Given the description of an element on the screen output the (x, y) to click on. 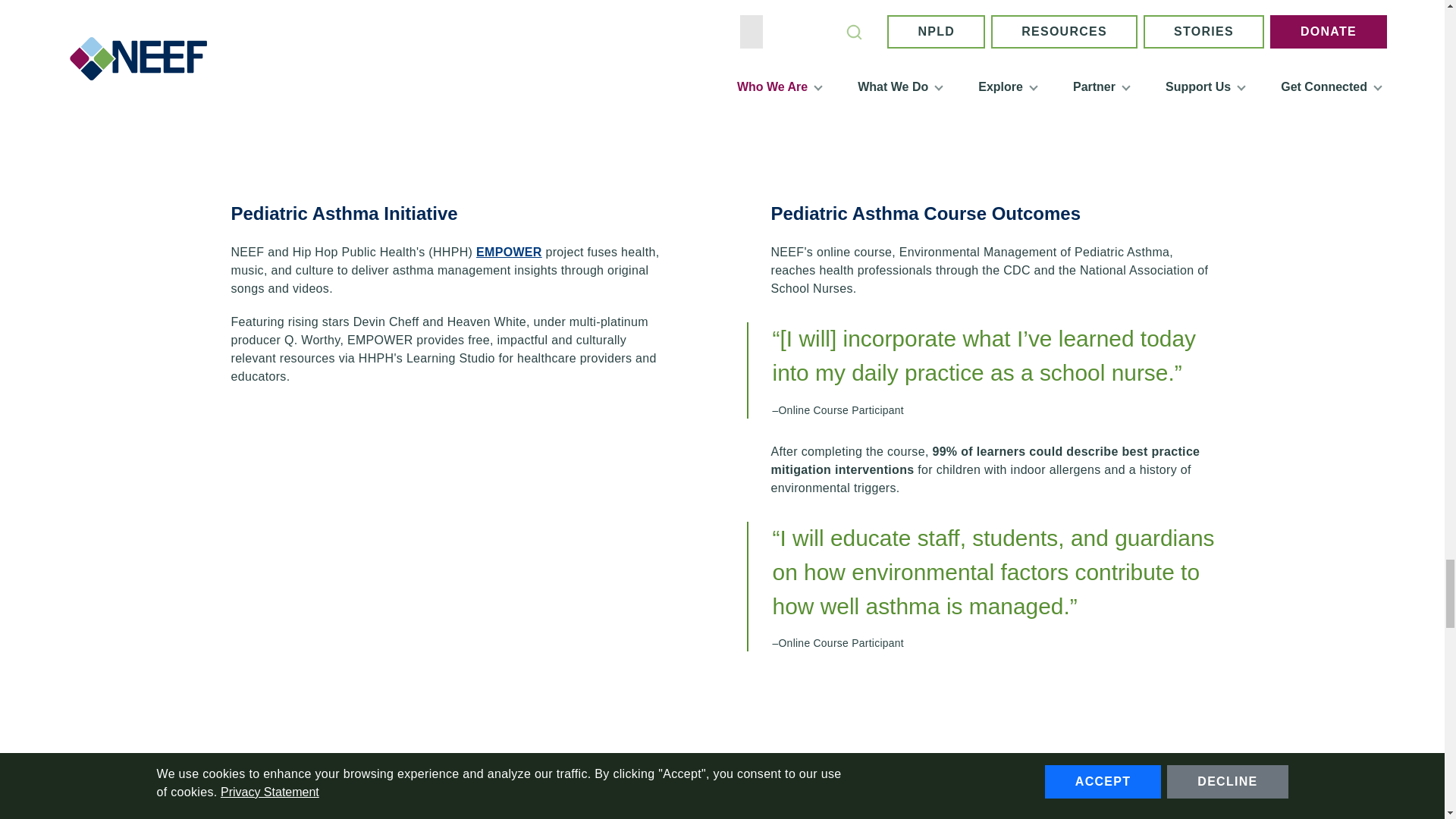
EMPOWER Amplifies Asthma Education with Seven New Videos (508, 251)
YouTube video player (442, 520)
